Given the description of an element on the screen output the (x, y) to click on. 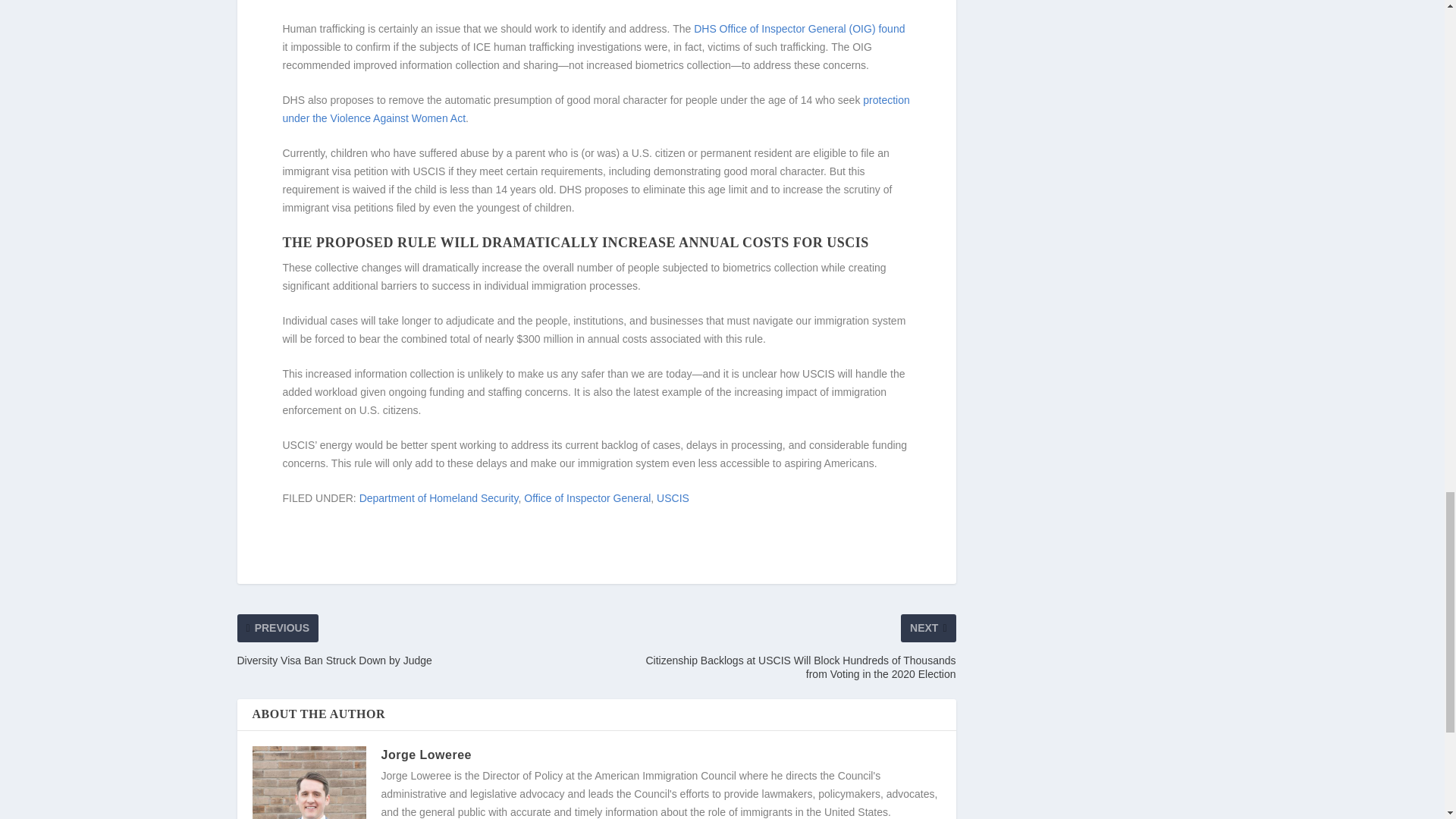
Department of Homeland Security (438, 498)
protection under the Violence Against Women Act (595, 109)
